Given the description of an element on the screen output the (x, y) to click on. 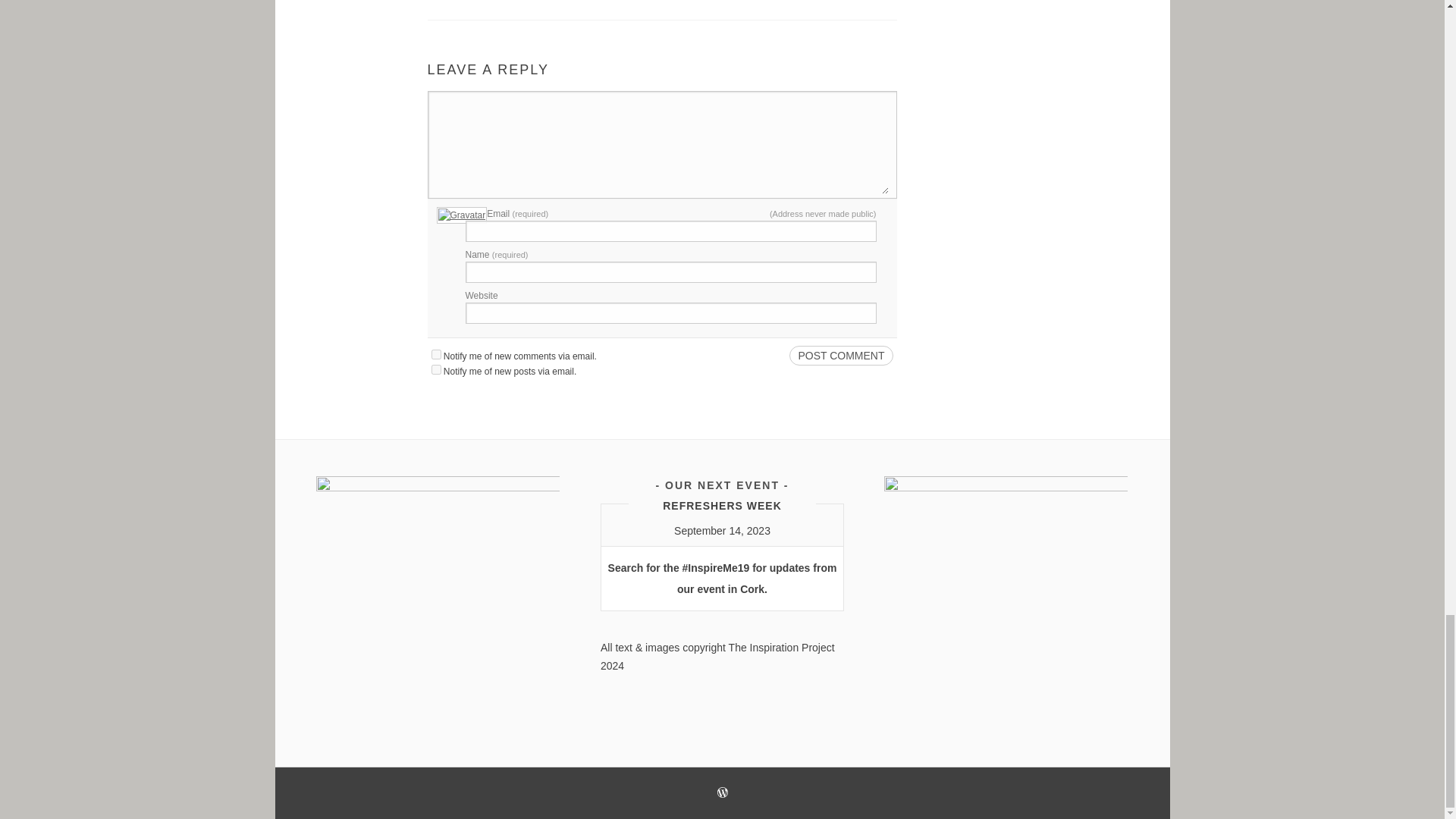
subscribe (435, 369)
CREATE A WEBSITE OR BLOG AT WORDPRESS.COM (722, 793)
Enter your comment here... (661, 146)
subscribe (435, 354)
Post Comment (840, 355)
CREATE A WEBSITE OR BLOG AT WORDPRESS.COM (722, 791)
Create a website or blog at WordPress.com (722, 793)
Post Comment (840, 355)
